Given the description of an element on the screen output the (x, y) to click on. 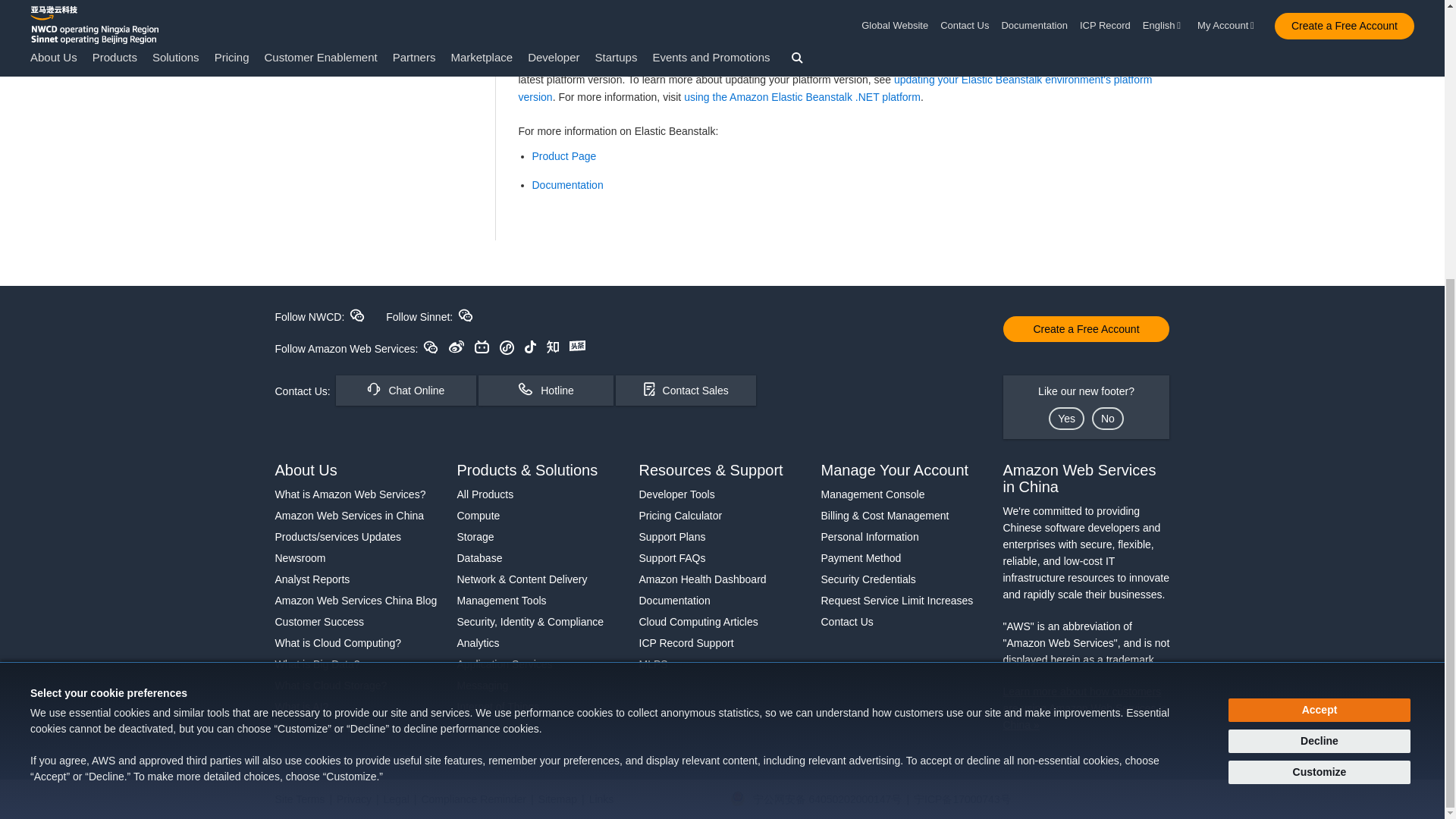
Bilibili (481, 346)
Sinnet (465, 315)
Decline (1319, 327)
ZhiHu (553, 346)
Applets (506, 347)
WeChat public account (430, 346)
TouTiao (577, 345)
Accept (1319, 295)
NWCD (357, 315)
Customize (1319, 357)
SinaWeiBo (456, 346)
